Given the description of an element on the screen output the (x, y) to click on. 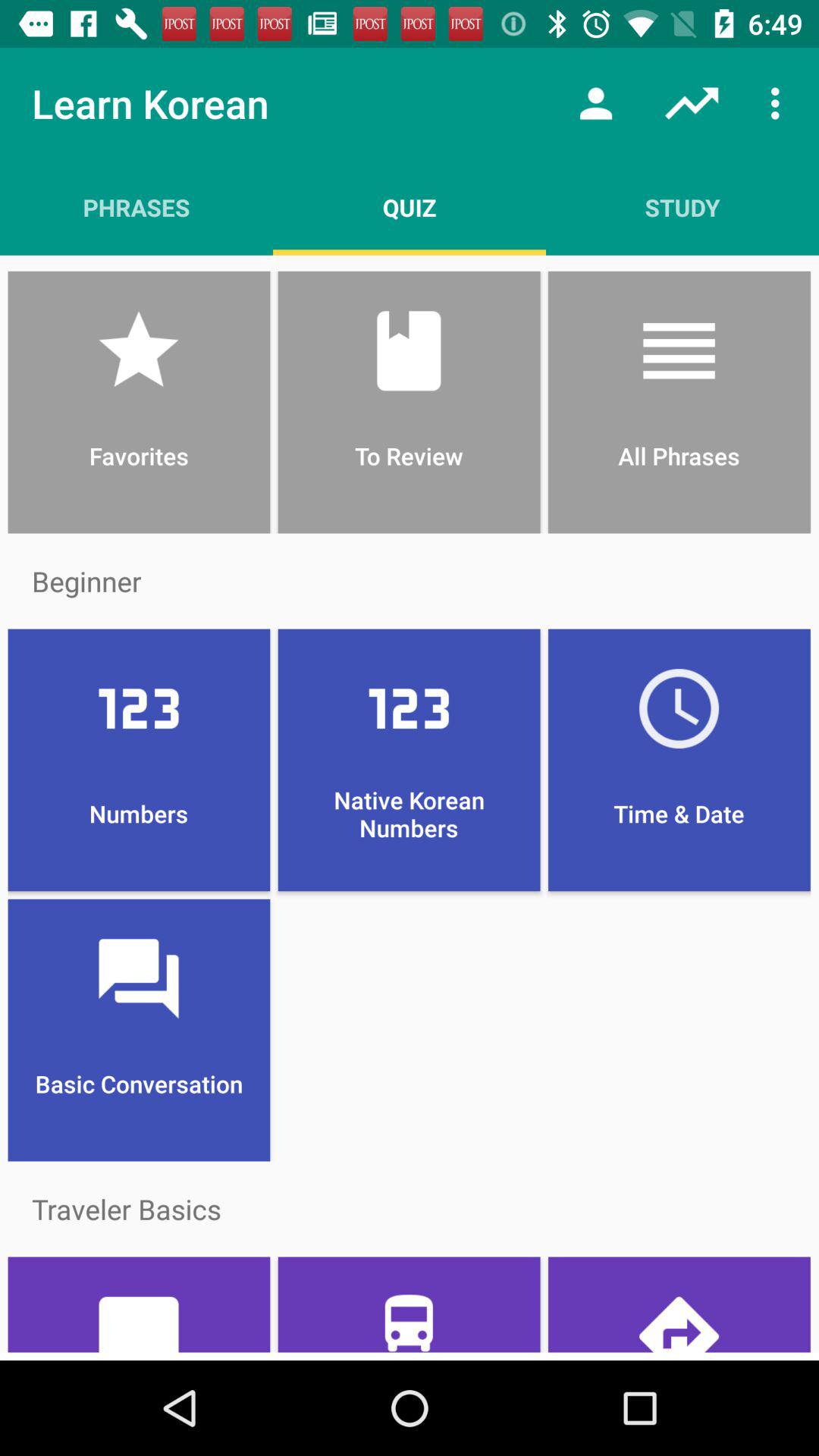
tap the icon to the right of the quiz item (682, 207)
